Given the description of an element on the screen output the (x, y) to click on. 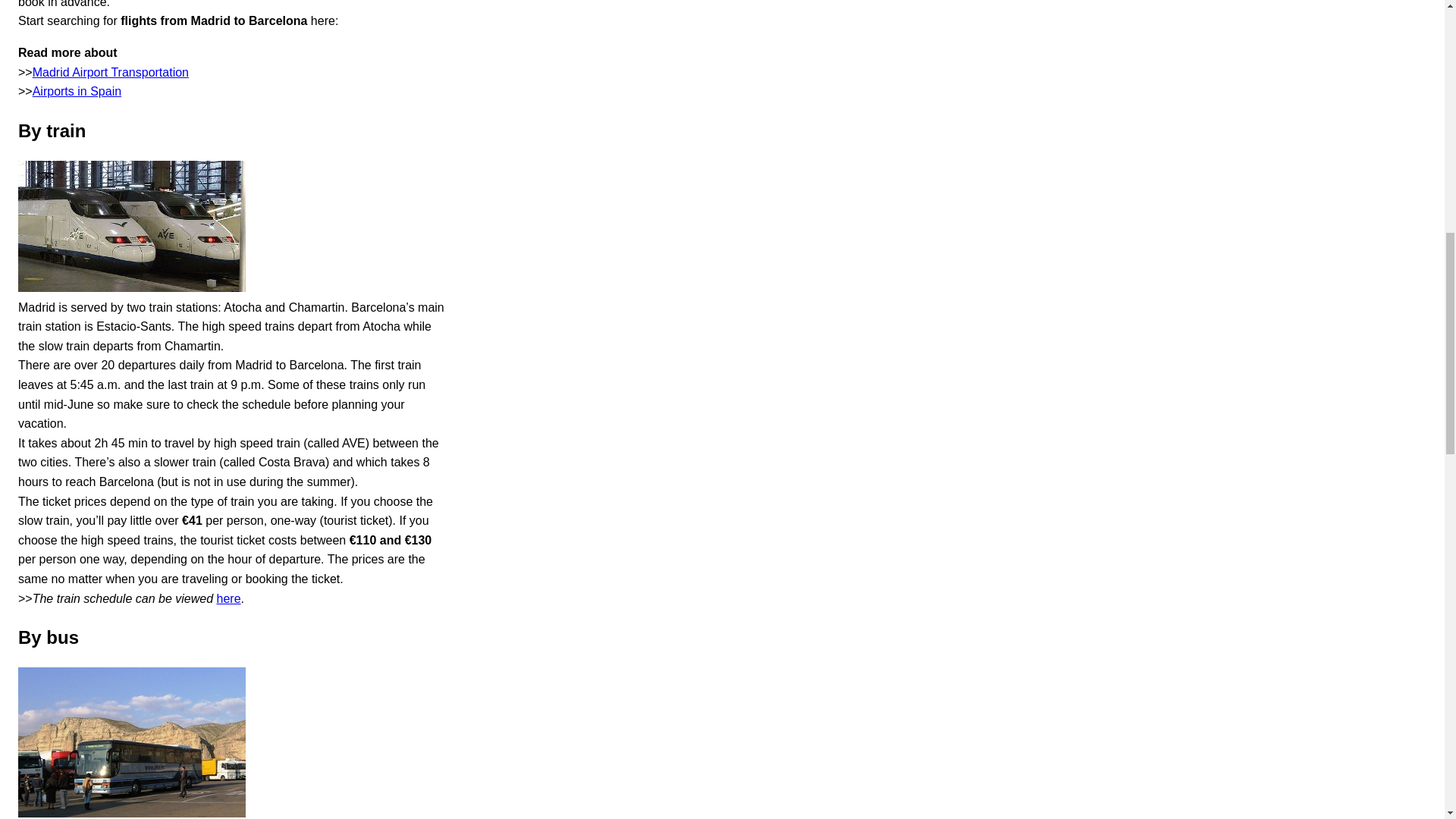
Airports in Spain (76, 91)
Madrid Airport Transportation (110, 72)
here (228, 598)
